Given the description of an element on the screen output the (x, y) to click on. 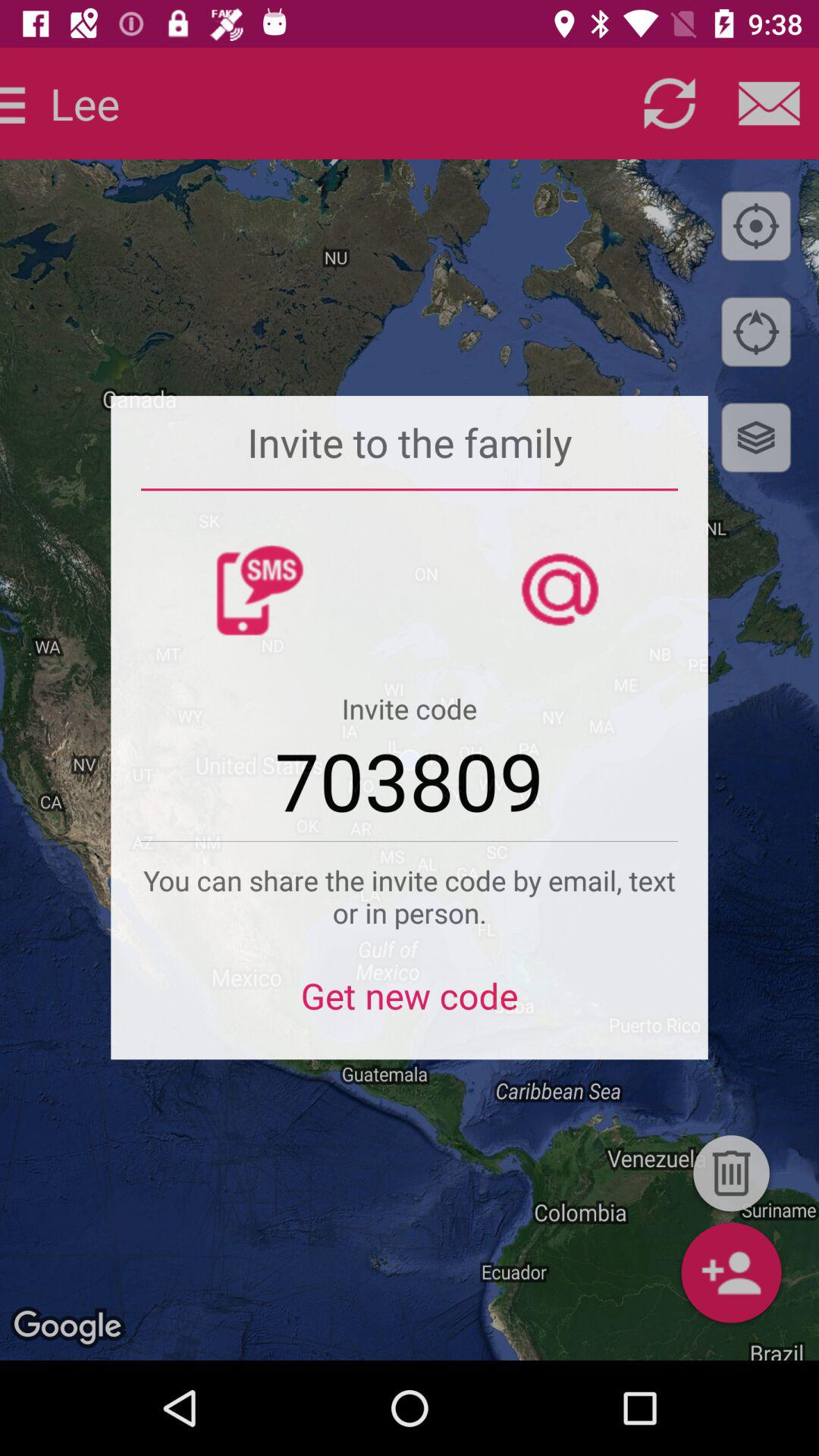
choose get new code item (409, 1005)
